Given the description of an element on the screen output the (x, y) to click on. 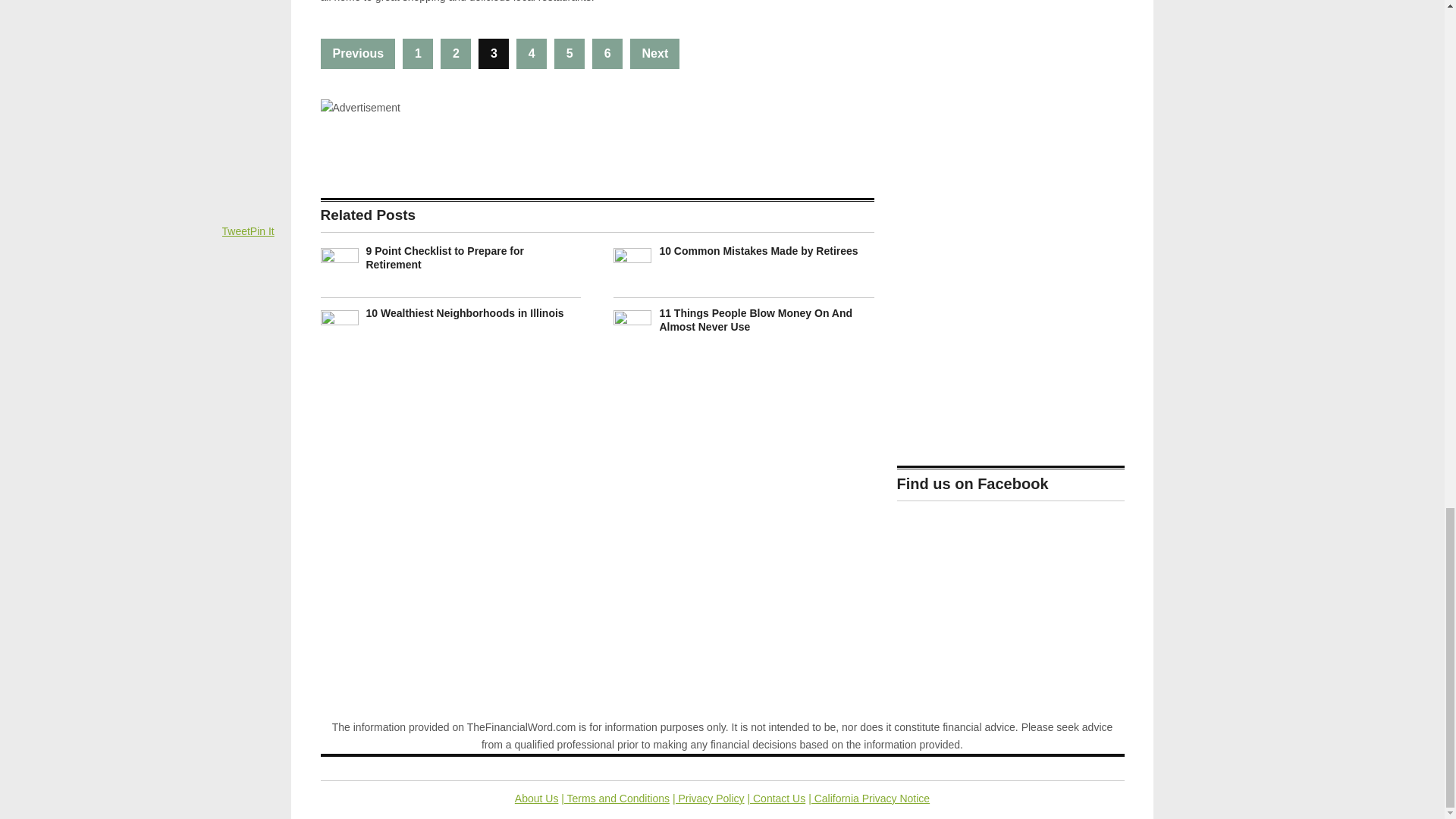
6 (607, 53)
4 (531, 53)
10 Common Mistakes Made by Retirees (758, 250)
9 Point Checklist to Prepare for Retirement (444, 257)
11 Things People Blow Money On And Almost Never Use (755, 319)
1 (417, 53)
10 Wealthiest Neighborhoods in Illinois (464, 313)
Next (654, 53)
11 Things People Blow Money On And Almost Never Use (755, 319)
Previous (357, 53)
